Given the description of an element on the screen output the (x, y) to click on. 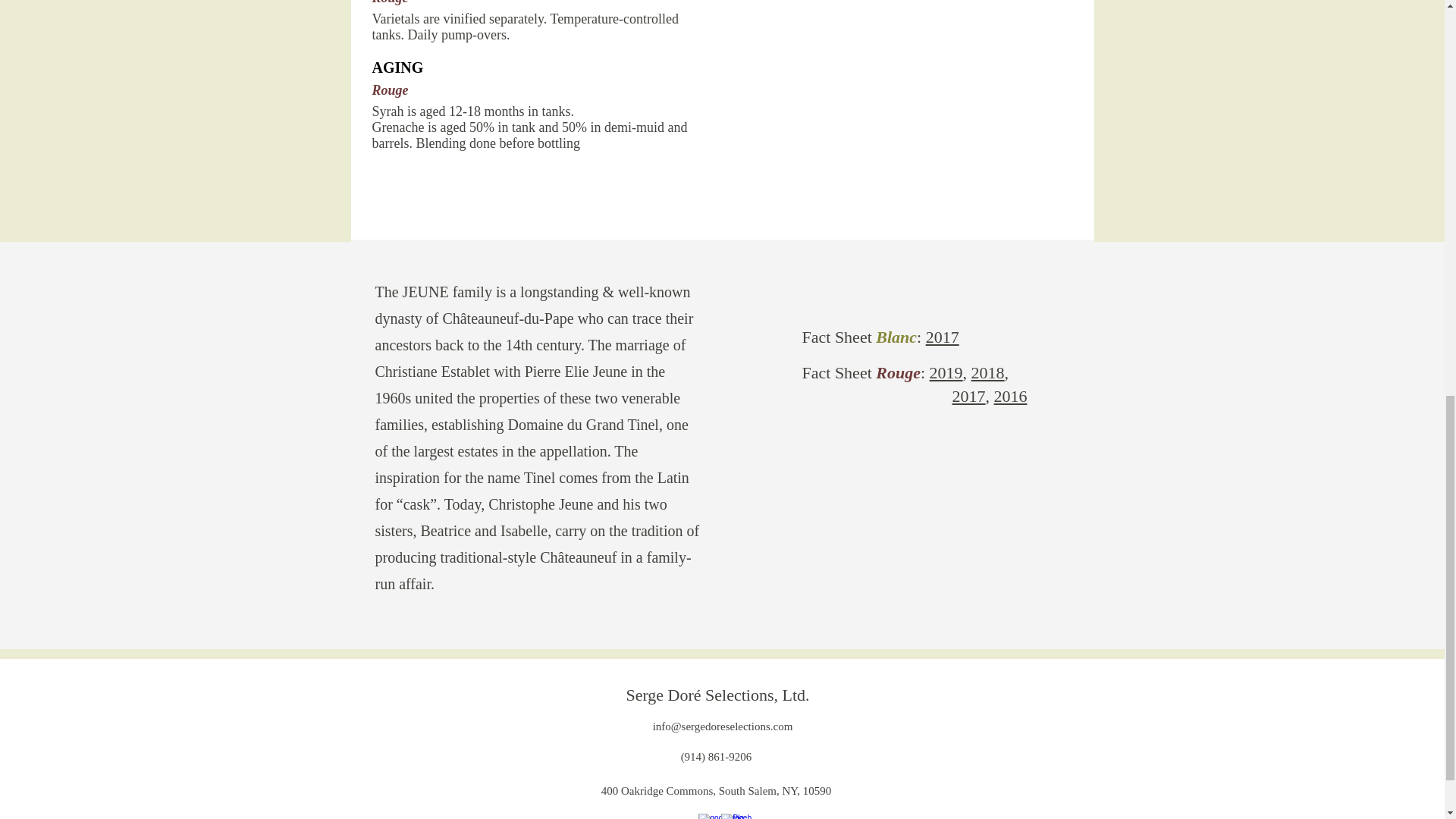
2018 (987, 372)
2017 (942, 336)
2016 (1009, 395)
2019 (946, 372)
2017 (968, 395)
